Given the description of an element on the screen output the (x, y) to click on. 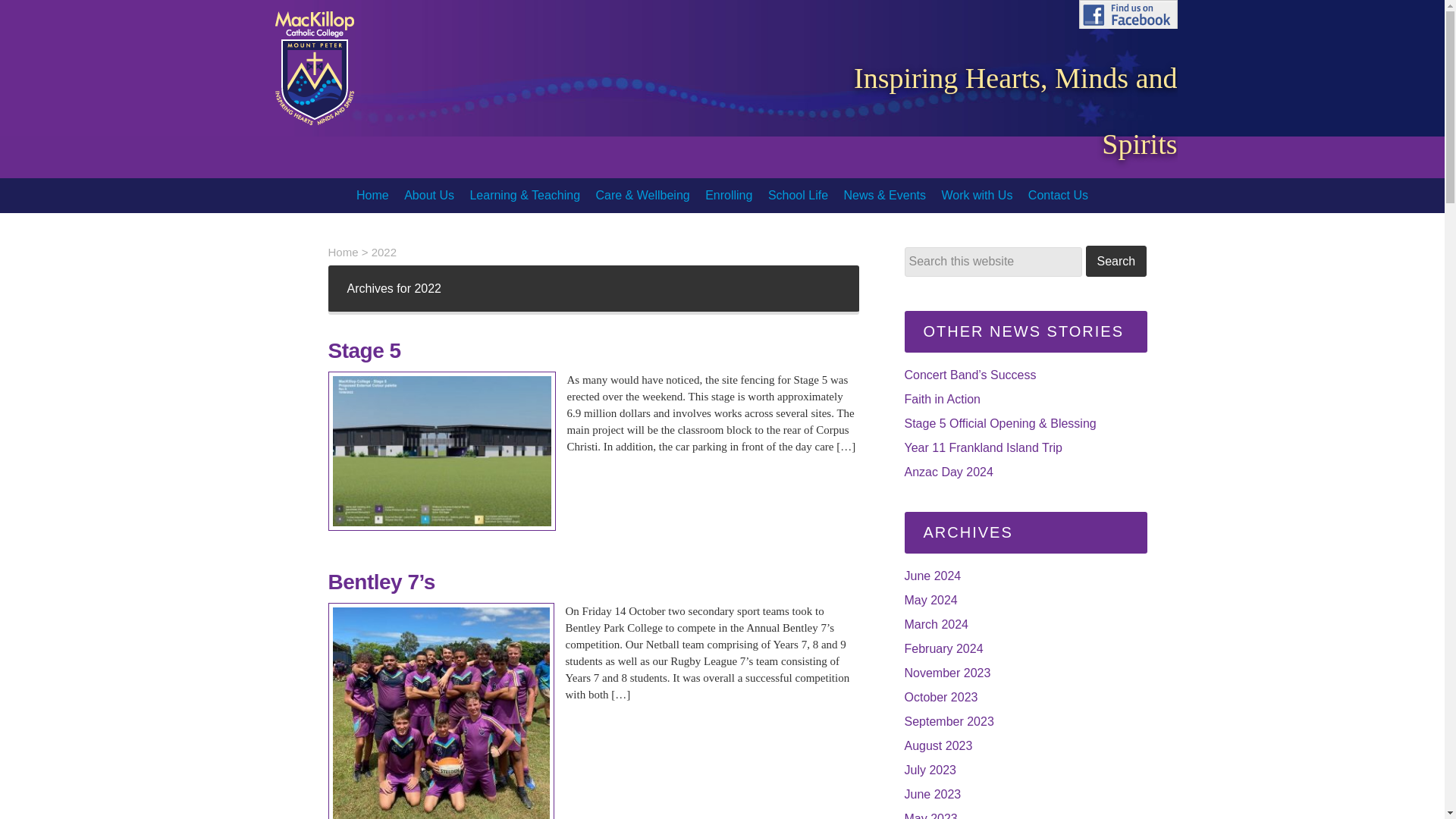
Search (1116, 260)
About Us (428, 195)
Home (372, 195)
Go to MacKillop Catholic College. (342, 251)
Search (1116, 260)
